Given the description of an element on the screen output the (x, y) to click on. 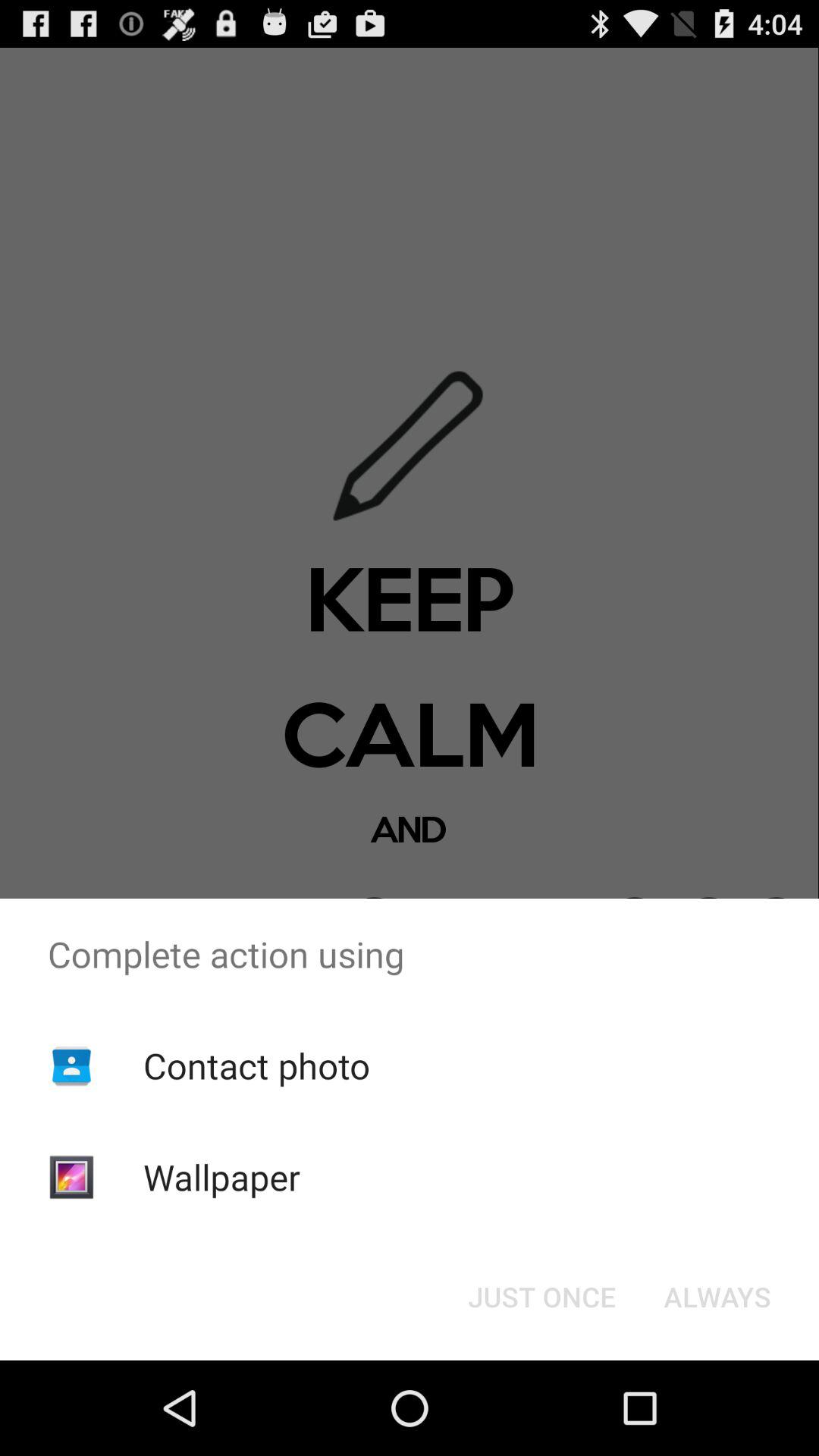
tap just once item (541, 1296)
